Given the description of an element on the screen output the (x, y) to click on. 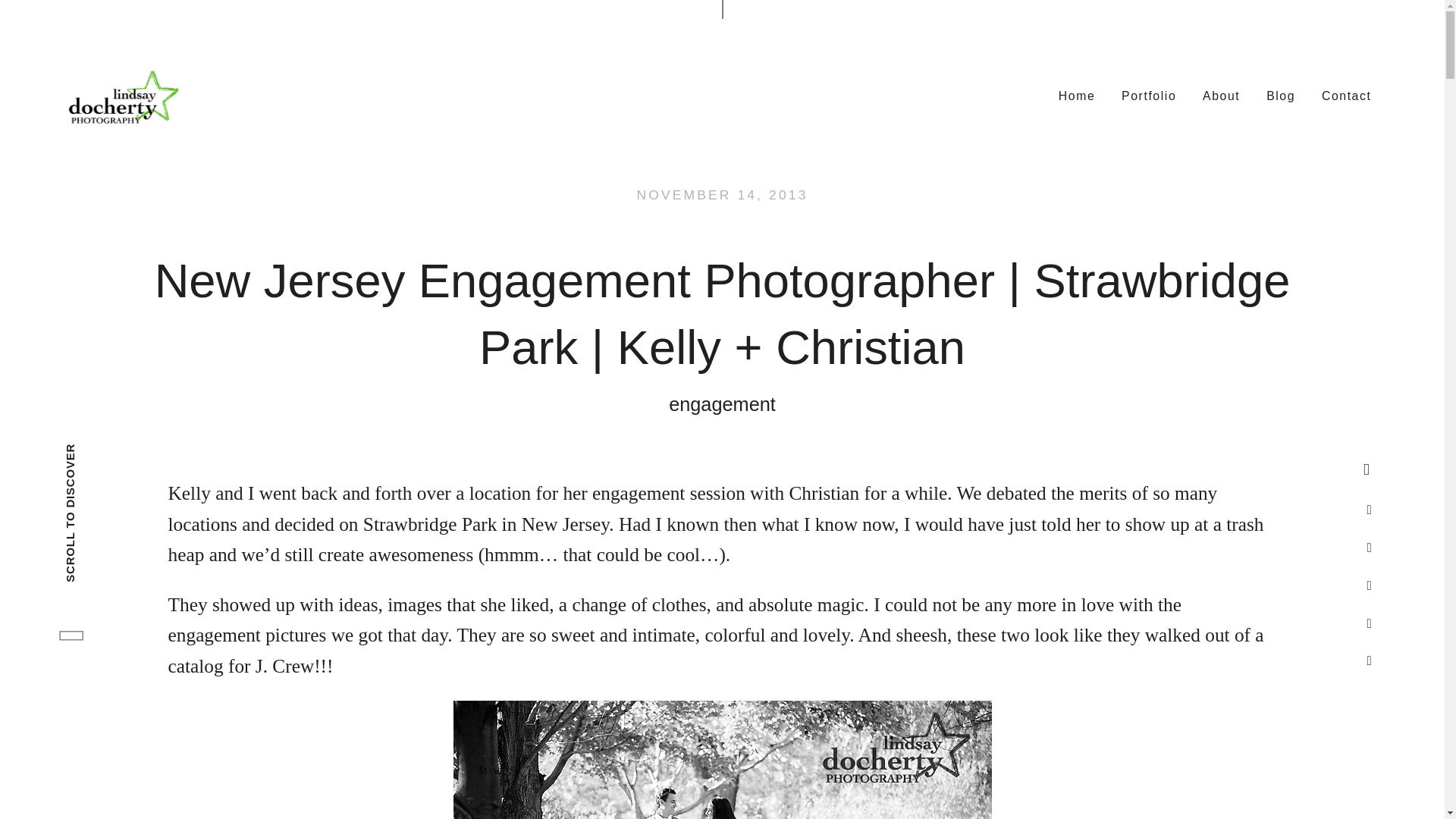
About (1221, 94)
engagement (722, 404)
SCROLL TO DISCOVER (132, 452)
SCROLL TO DISCOVER (152, 470)
Home (1076, 94)
Portfolio (1149, 94)
Blog (1281, 94)
Contact (1346, 94)
